Given the description of an element on the screen output the (x, y) to click on. 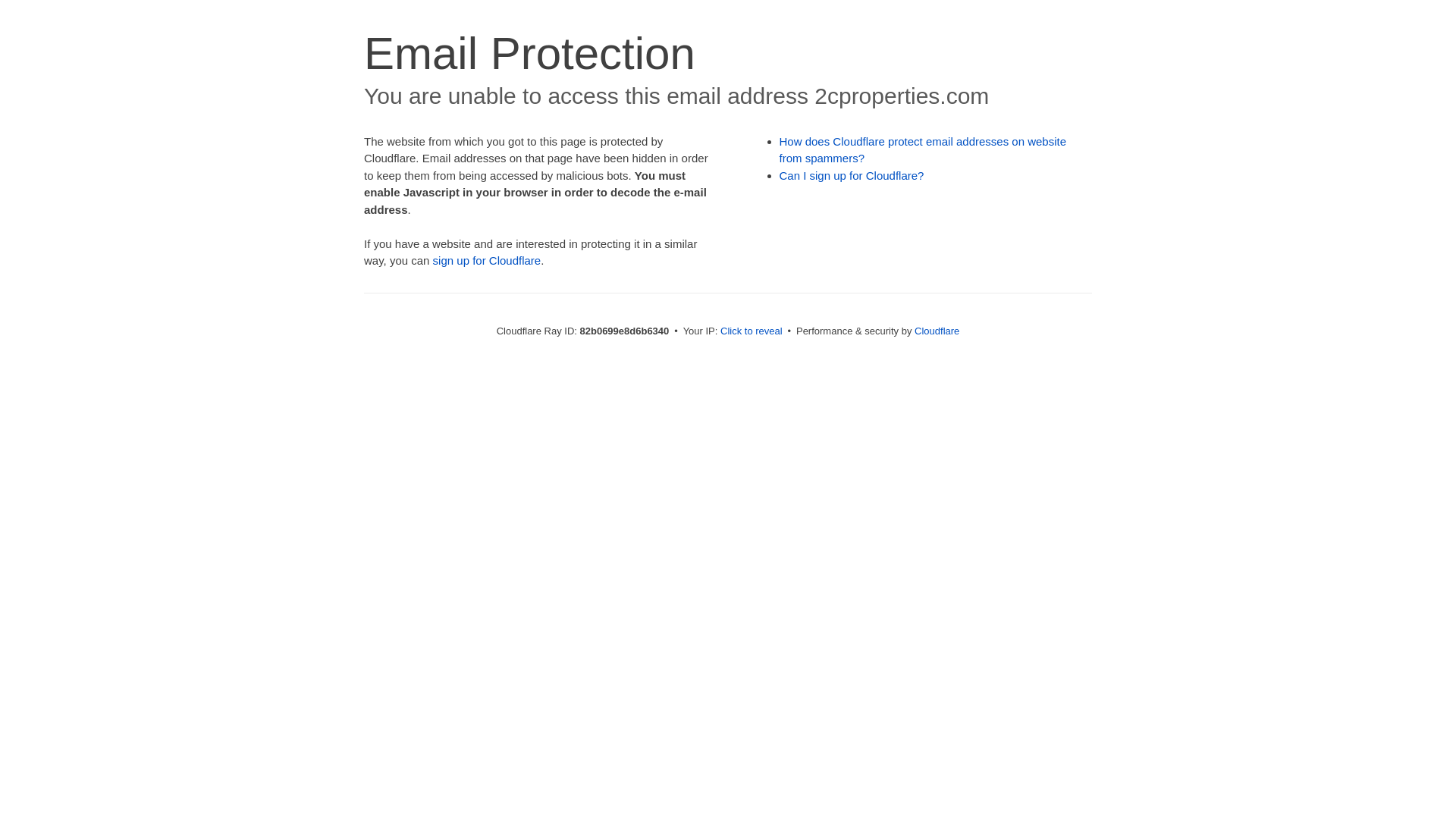
Can I sign up for Cloudflare? Element type: text (851, 175)
Cloudflare Element type: text (936, 330)
sign up for Cloudflare Element type: text (487, 260)
Click to reveal Element type: text (751, 330)
